Given the description of an element on the screen output the (x, y) to click on. 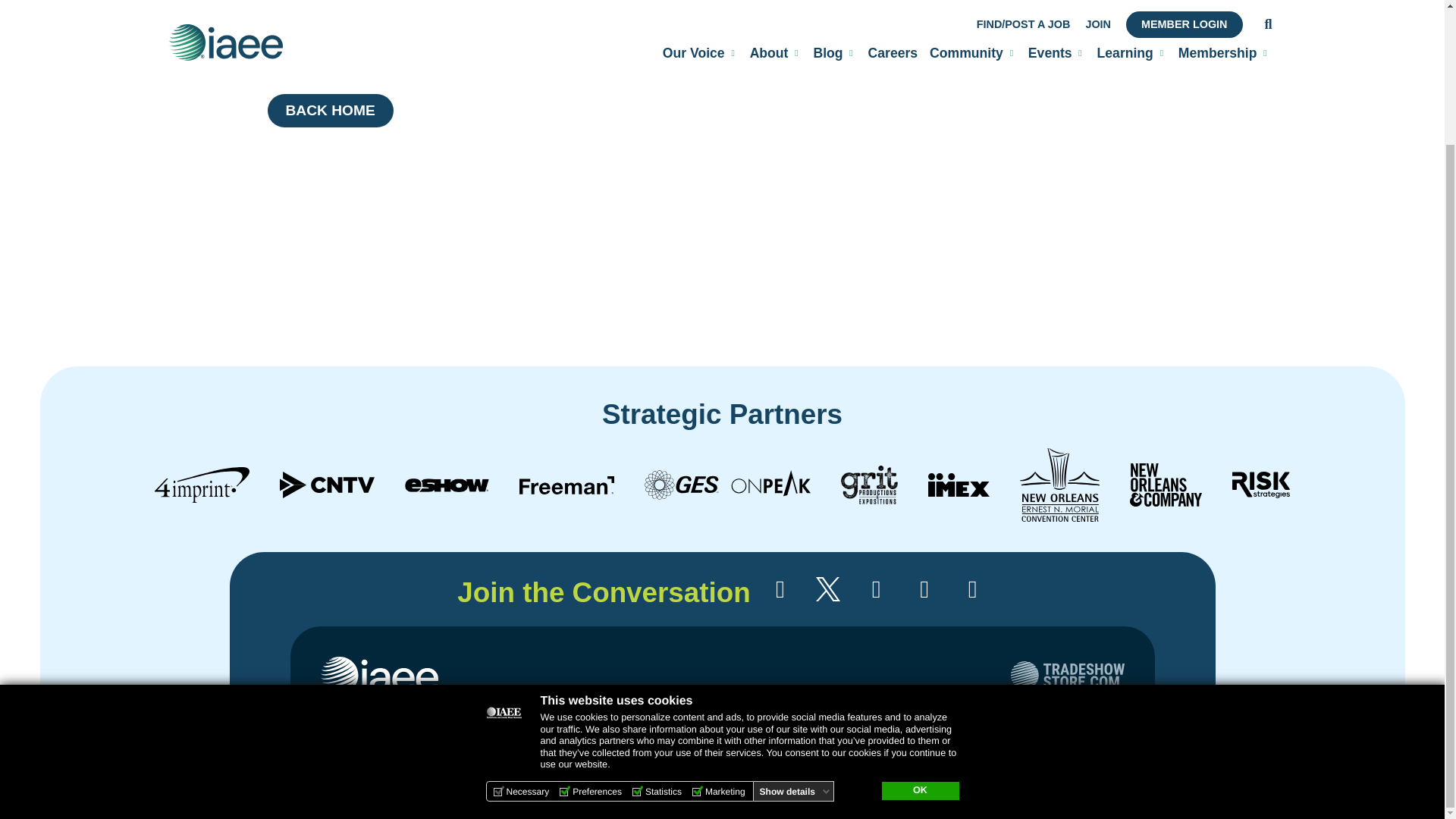
OK (919, 626)
Show details (794, 626)
